Given the description of an element on the screen output the (x, y) to click on. 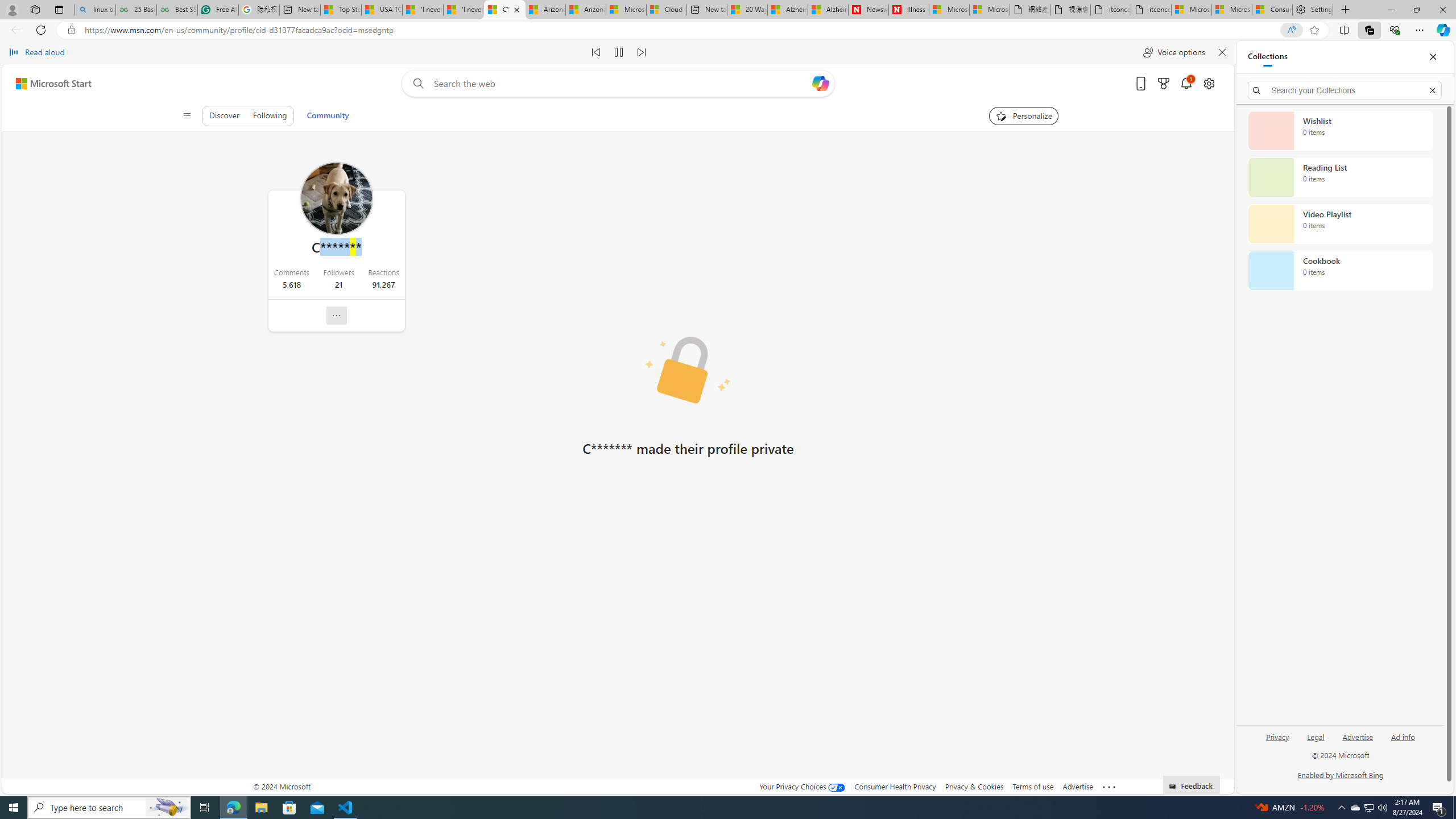
Illness news & latest pictures from Newsweek.com (908, 9)
25 Basic Linux Commands For Beginners - GeeksforGeeks (135, 9)
20 Ways to Boost Your Protein Intake at Every Meal (746, 9)
itconcepthk.com/projector_solutions.mp4 (1150, 9)
Your Privacy Choices (801, 786)
Exit search (1432, 90)
Report profile (336, 315)
